Given the description of an element on the screen output the (x, y) to click on. 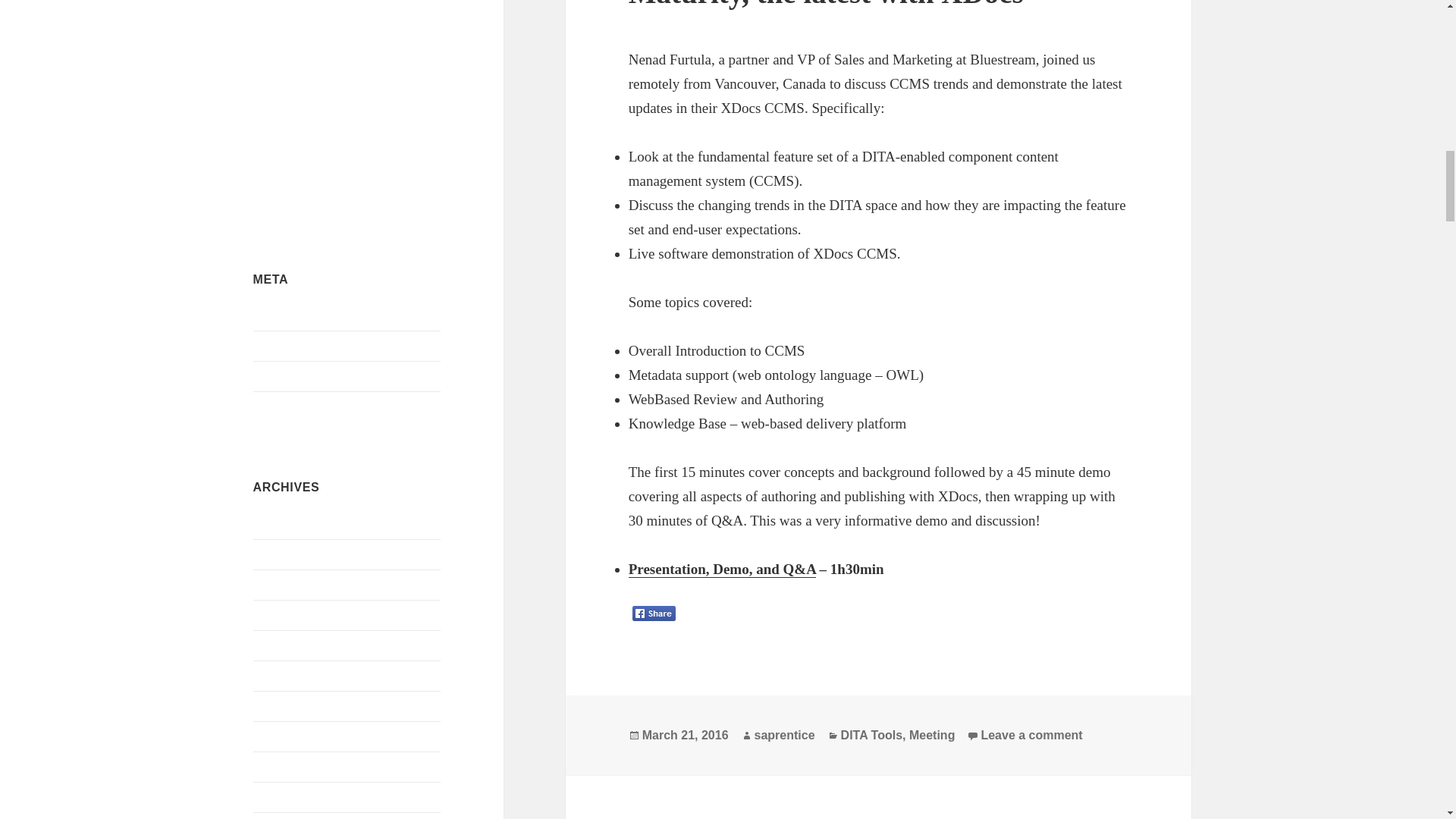
Indexing (353, 37)
FrameMaker (307, 11)
Glossary (267, 37)
Localization (356, 55)
Implementation (308, 37)
Information Architecture (293, 55)
Globalization (387, 16)
